Given the description of an element on the screen output the (x, y) to click on. 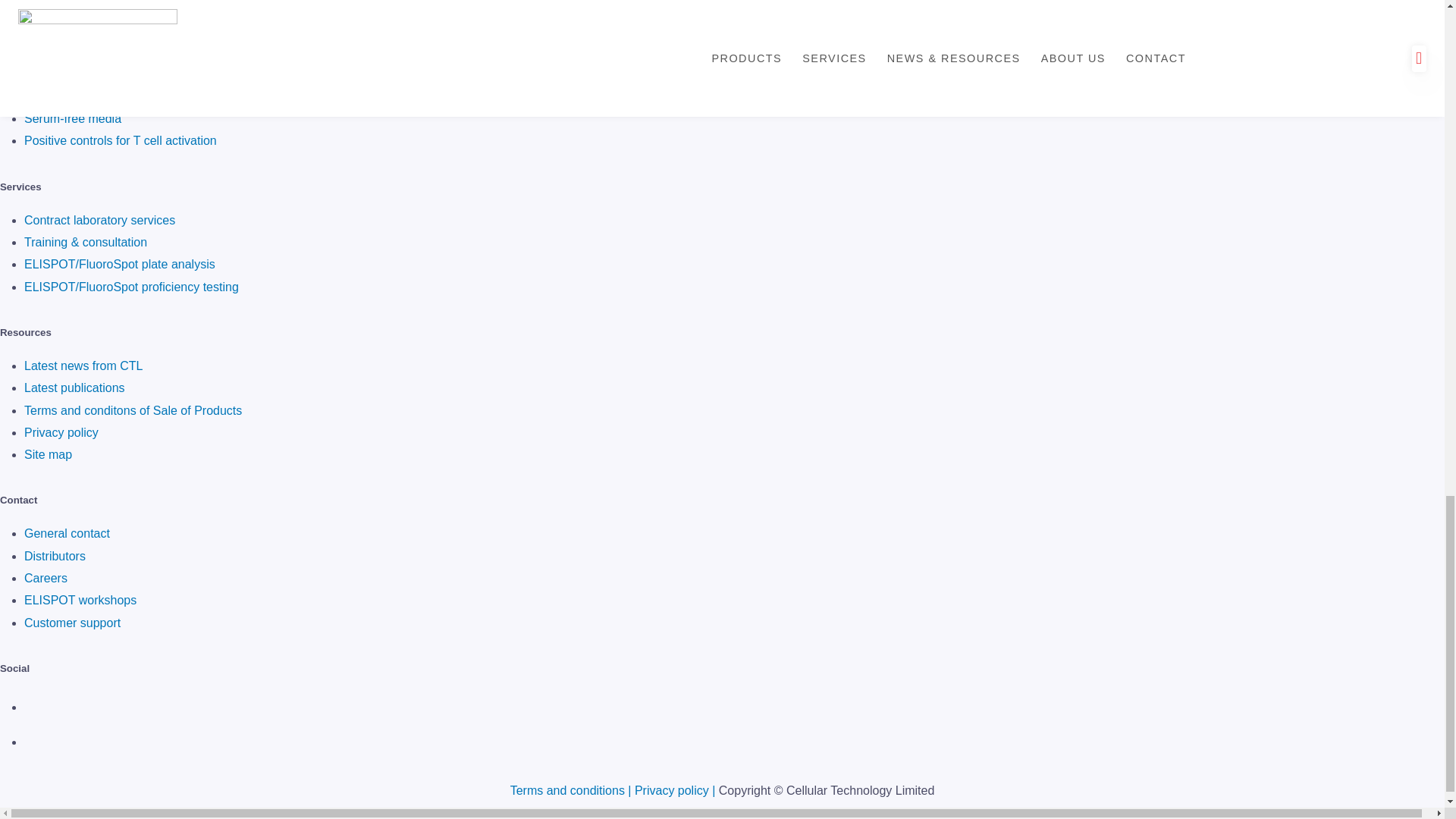
Linkedin (39, 707)
